Given the description of an element on the screen output the (x, y) to click on. 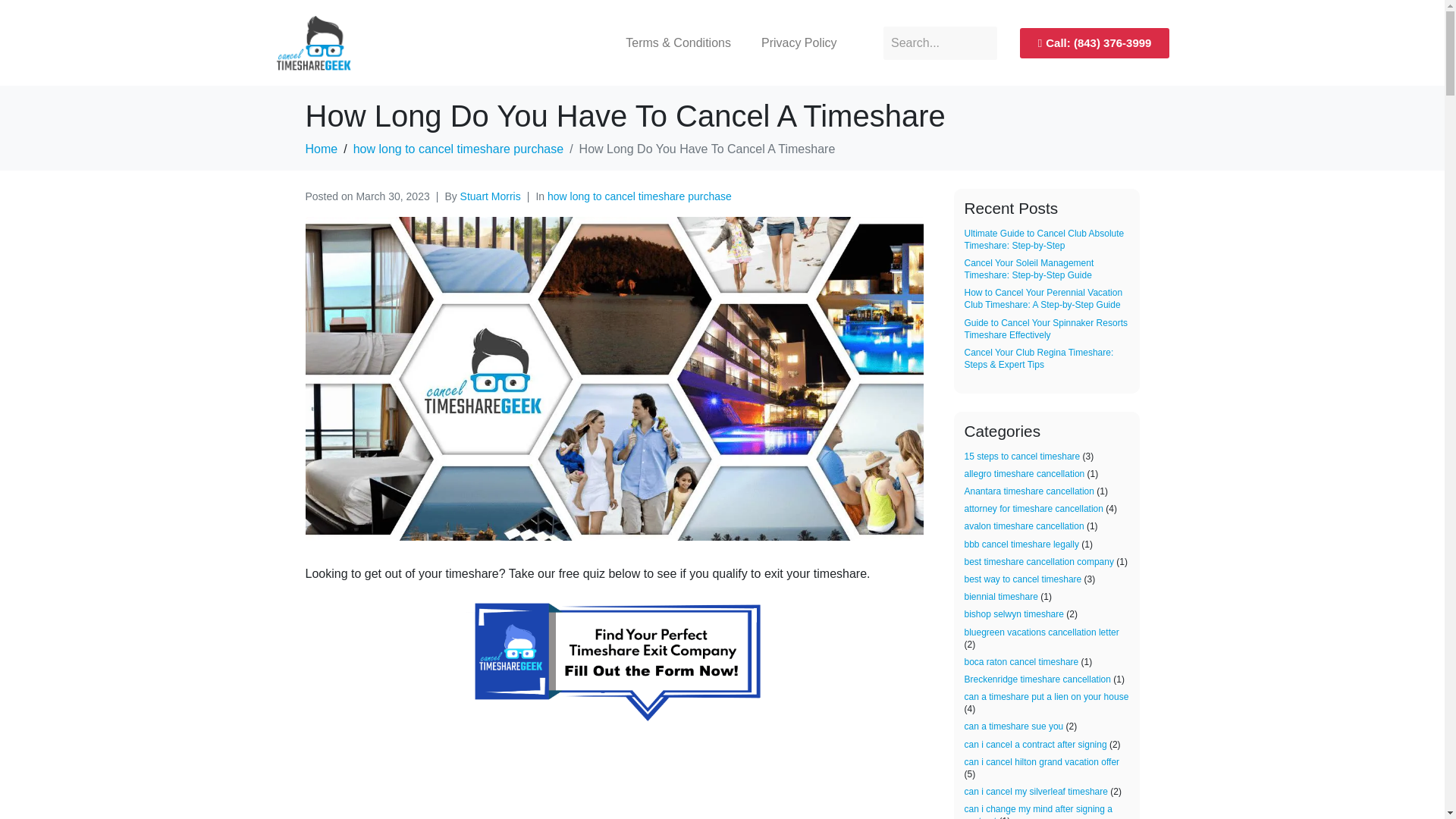
bbb cancel timeshare legally (1020, 543)
attorney for timeshare cancellation (1033, 508)
best timeshare cancellation company (1038, 561)
avalon timeshare cancellation (1023, 525)
best way to cancel timeshare (1022, 579)
Search (940, 42)
Home (320, 148)
15 steps to cancel timeshare (1021, 456)
Stuart Morris (490, 196)
Cancel Your Soleil Management Timeshare: Step-by-Step Guide (1028, 268)
Guide to Cancel Your Spinnaker Resorts Timeshare Effectively (1044, 328)
how long to cancel timeshare purchase (458, 148)
how long to cancel timeshare purchase (639, 196)
Anantara timeshare cancellation (1028, 491)
